Given the description of an element on the screen output the (x, y) to click on. 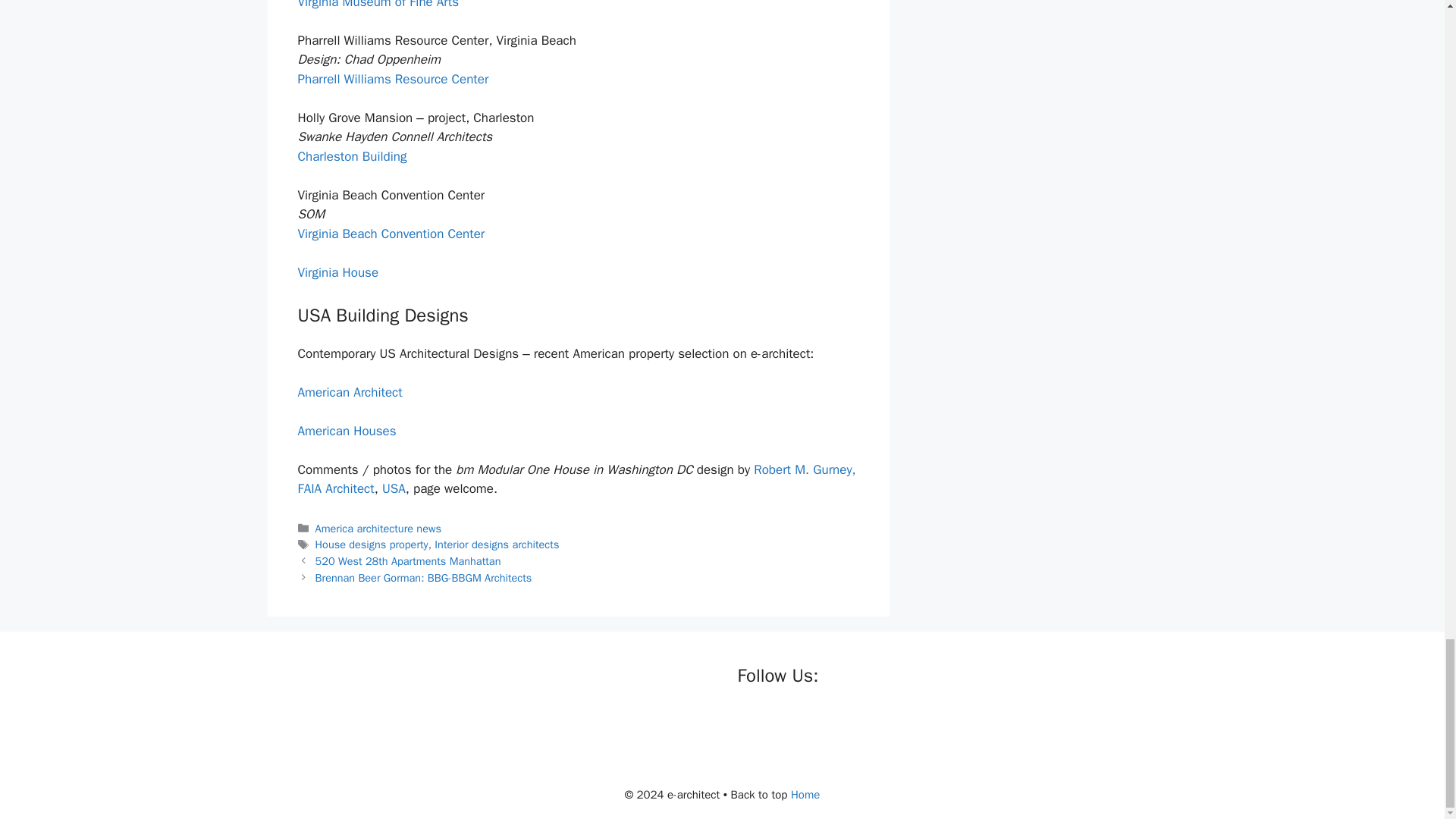
twitter (781, 722)
facebook (749, 722)
instagram (842, 722)
linkedin (811, 722)
